Given the description of an element on the screen output the (x, y) to click on. 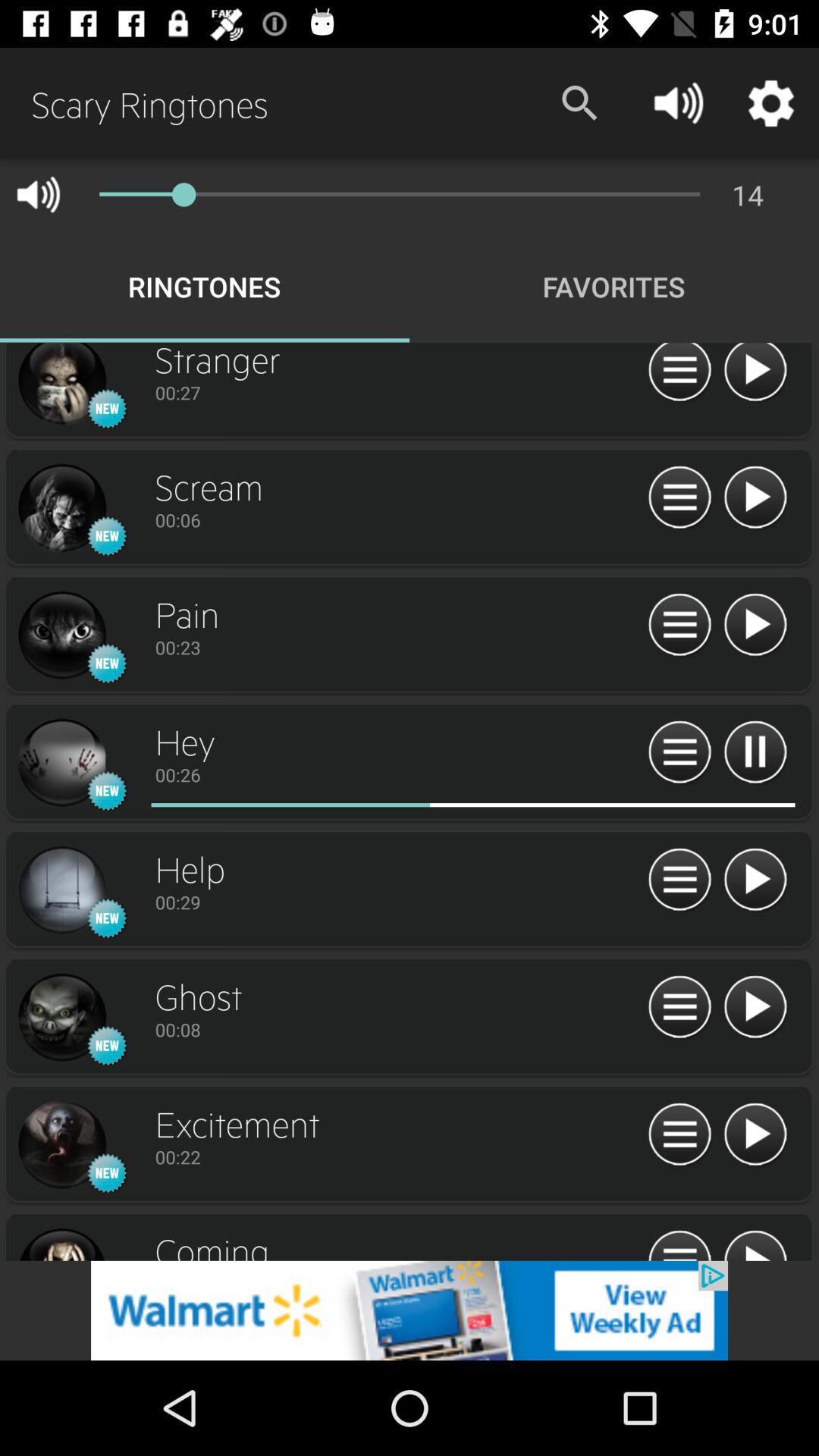
music player (679, 625)
